Given the description of an element on the screen output the (x, y) to click on. 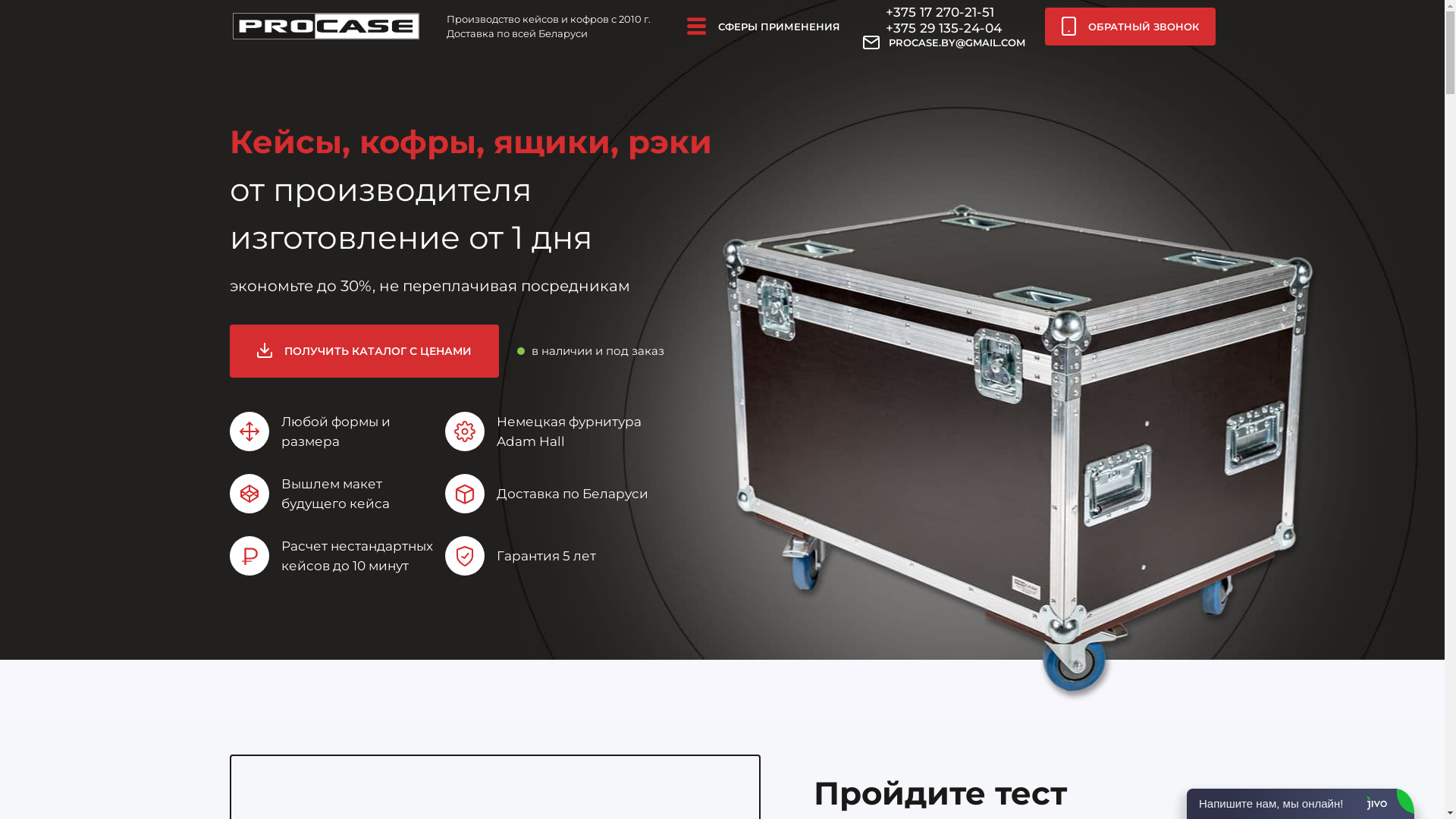
PROCASE.BY@GMAIL.COM Element type: text (943, 42)
+375 29 135-24-04 Element type: text (943, 27)
+375 17 270-21-51 Element type: text (939, 11)
